Given the description of an element on the screen output the (x, y) to click on. 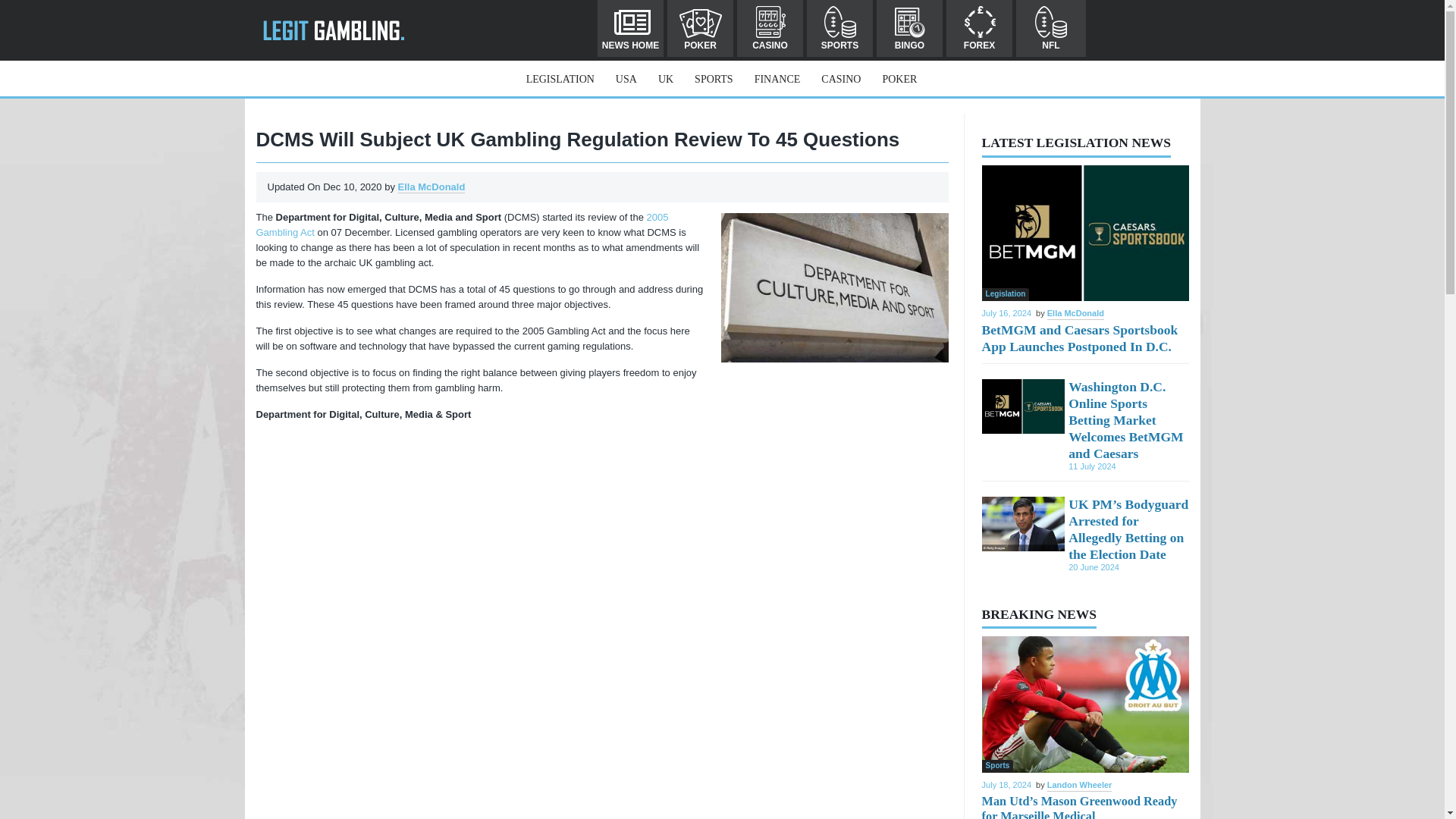
BINGO (909, 28)
UK (664, 79)
LEGISLATION (560, 79)
POKER (899, 79)
USA (625, 79)
SPORTS (839, 28)
NFL (1051, 28)
NEWS HOME (629, 28)
POKER (699, 28)
FOREX (978, 28)
FINANCE (777, 79)
CASINO (840, 79)
SPORTS (713, 79)
CASINO (769, 28)
